Given the description of an element on the screen output the (x, y) to click on. 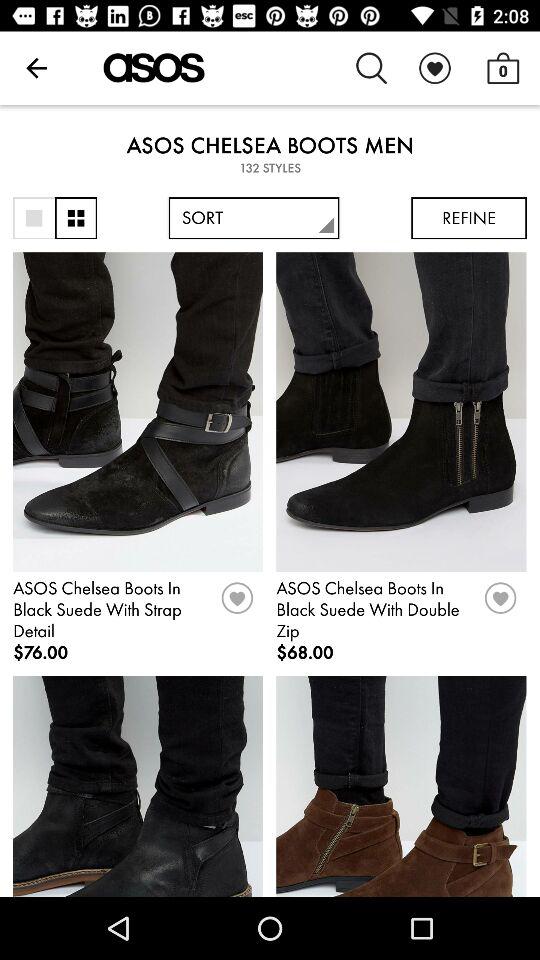
launch the item above asos chelsea boots (434, 67)
